Given the description of an element on the screen output the (x, y) to click on. 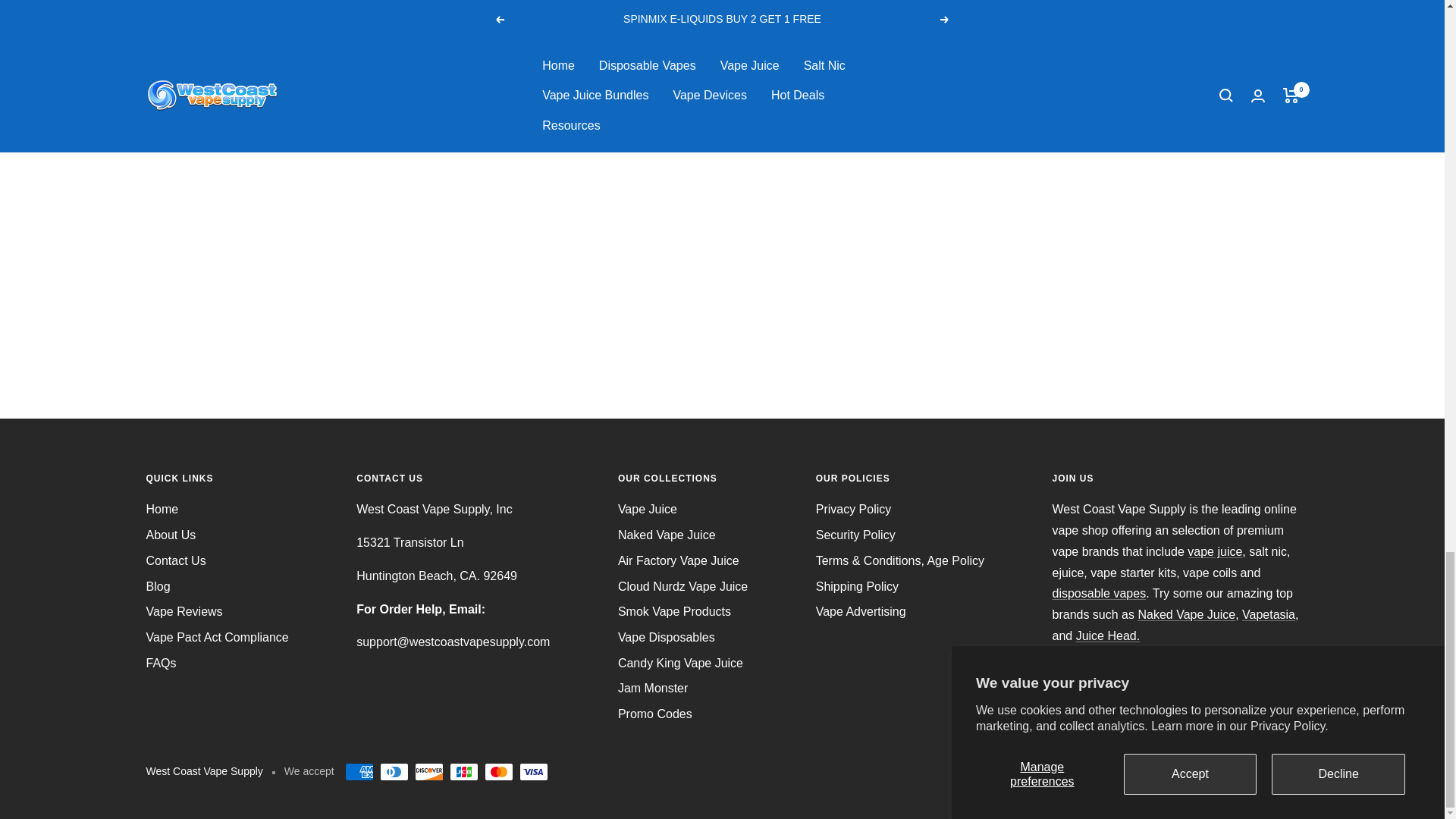
Juice Head (1107, 635)
